Given the description of an element on the screen output the (x, y) to click on. 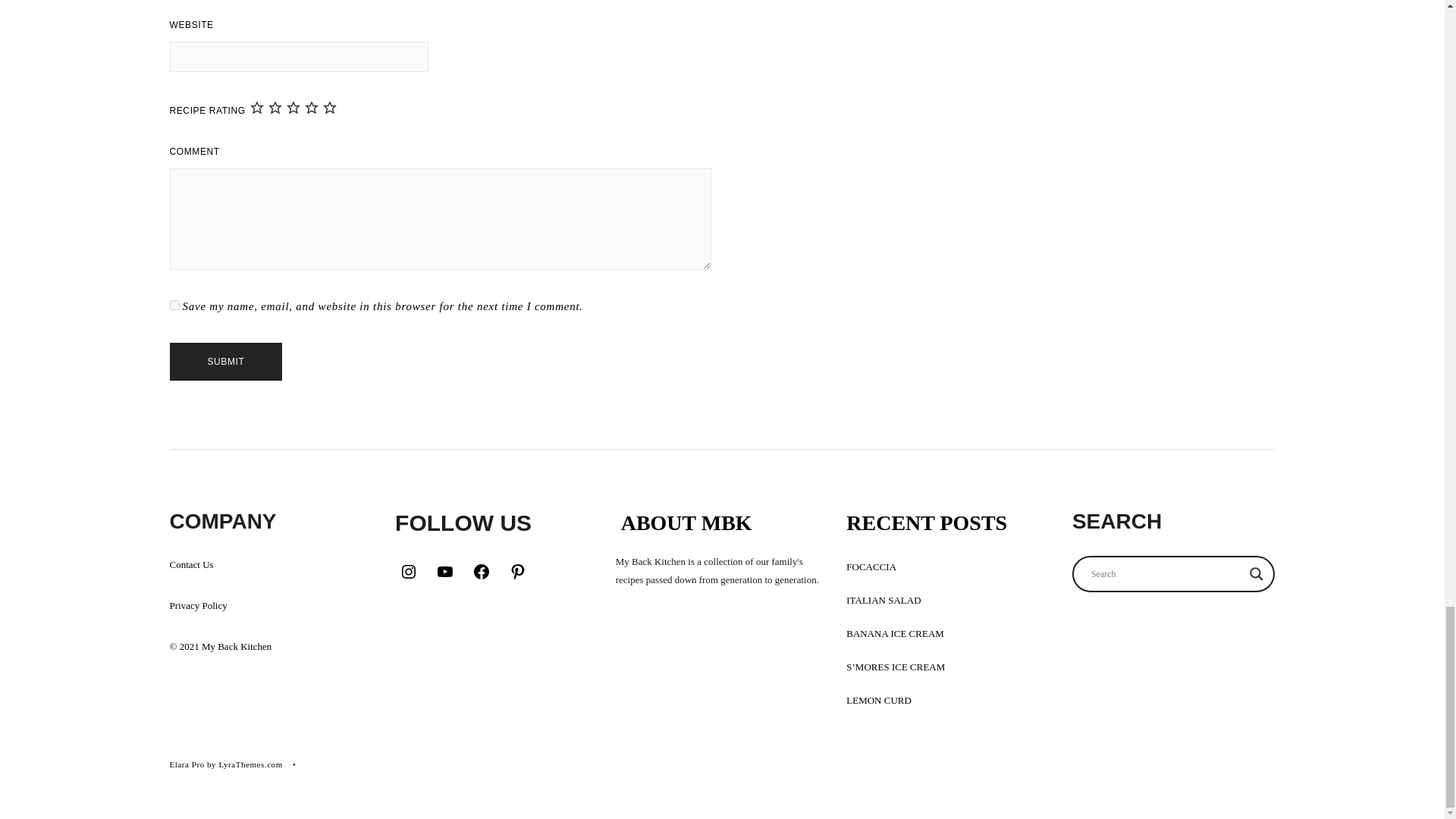
Privacy Policy (198, 604)
Submit (226, 361)
YOUTUBE (444, 571)
PINTEREST (517, 571)
Submit (226, 361)
INSTAGRAM (408, 571)
Contact Us (192, 564)
yes (174, 305)
FOCACCIA (870, 566)
ITALIAN SALAD (882, 600)
FACEBOOK (481, 571)
